Given the description of an element on the screen output the (x, y) to click on. 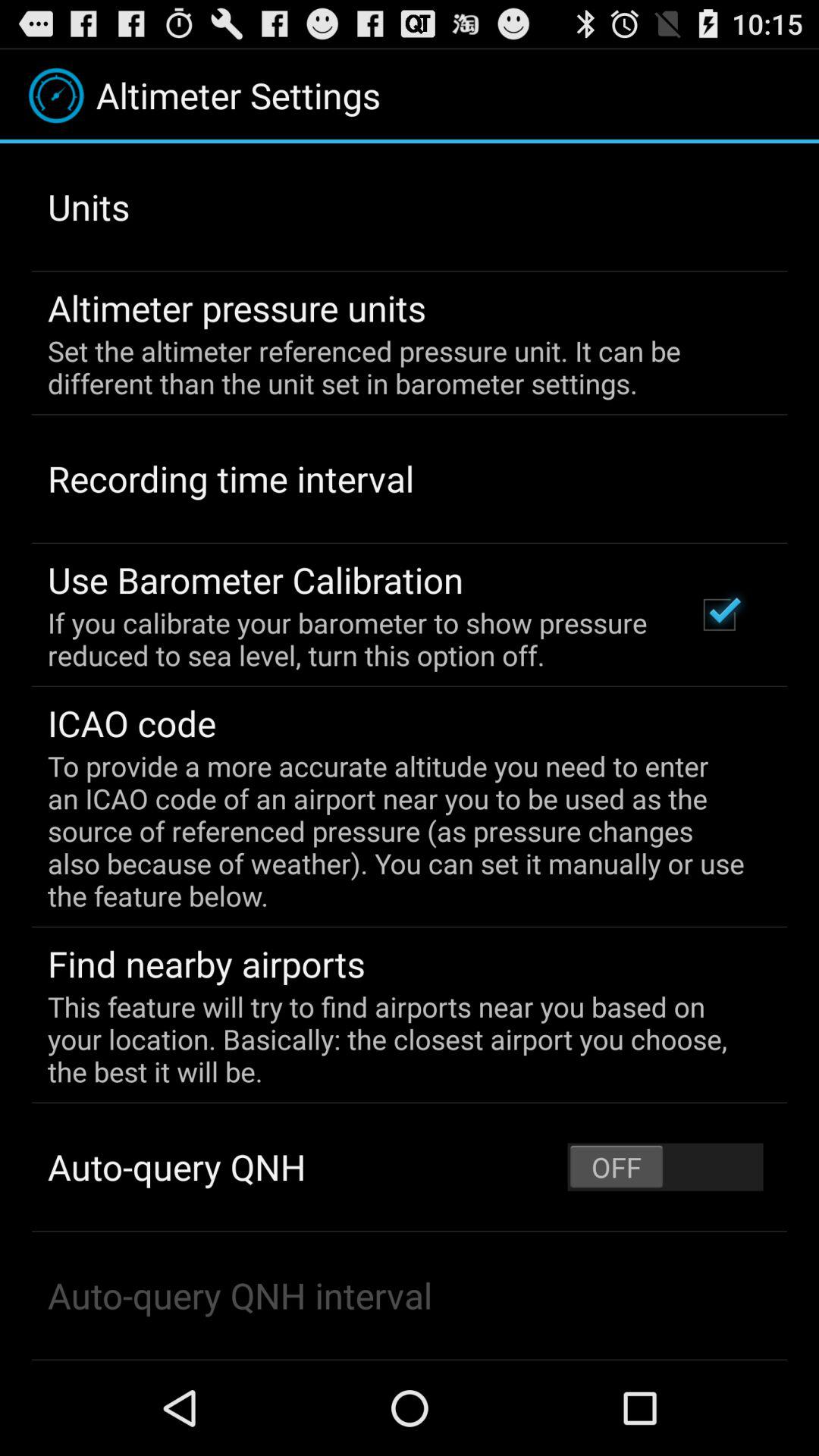
choose the item to the right of the auto-query qnh app (665, 1166)
